Given the description of an element on the screen output the (x, y) to click on. 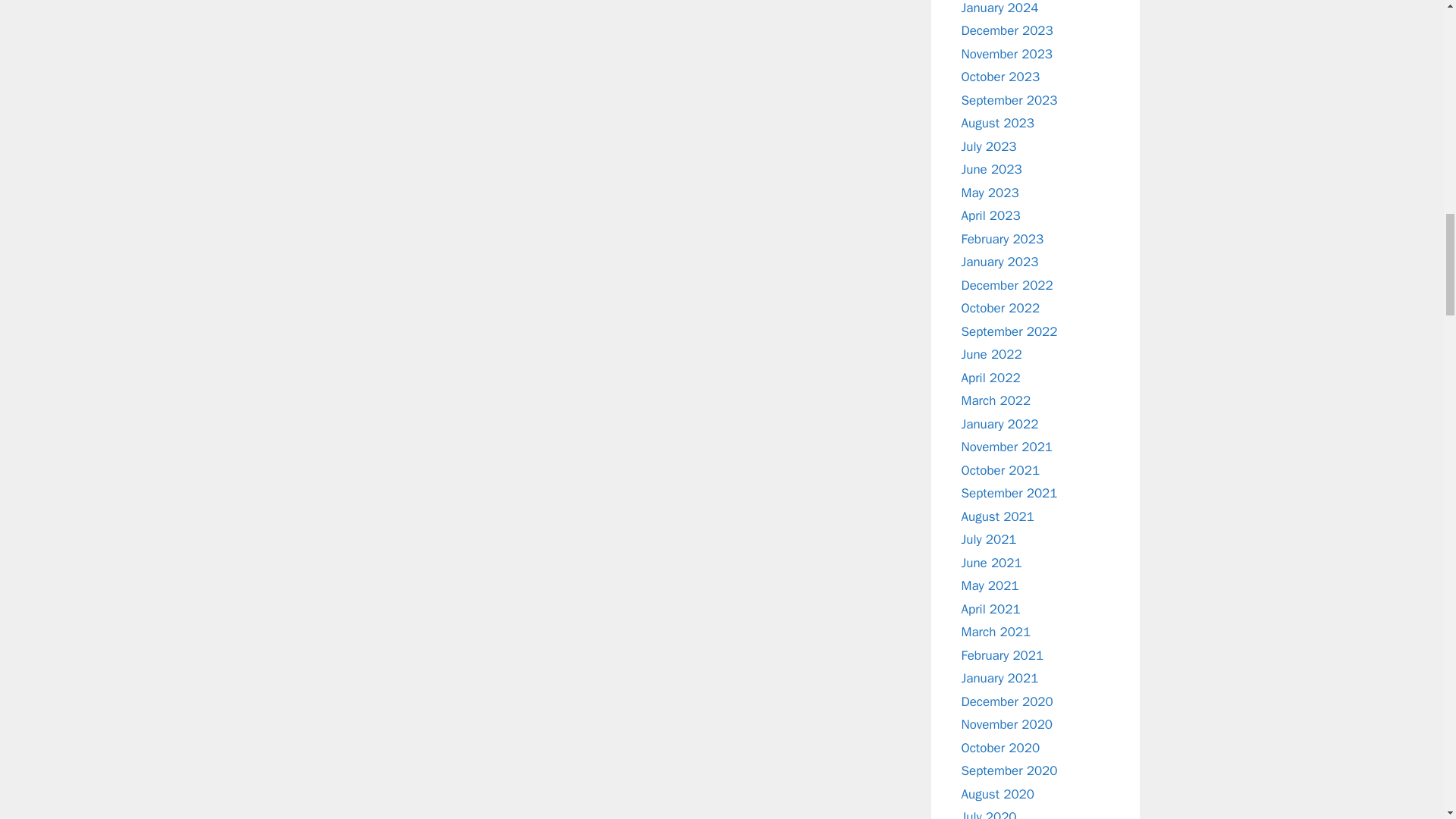
October 2023 (1000, 76)
September 2023 (1009, 100)
June 2023 (991, 169)
May 2023 (989, 192)
January 2024 (999, 7)
December 2023 (1006, 30)
July 2023 (988, 145)
November 2023 (1006, 53)
August 2023 (996, 123)
